Given the description of an element on the screen output the (x, y) to click on. 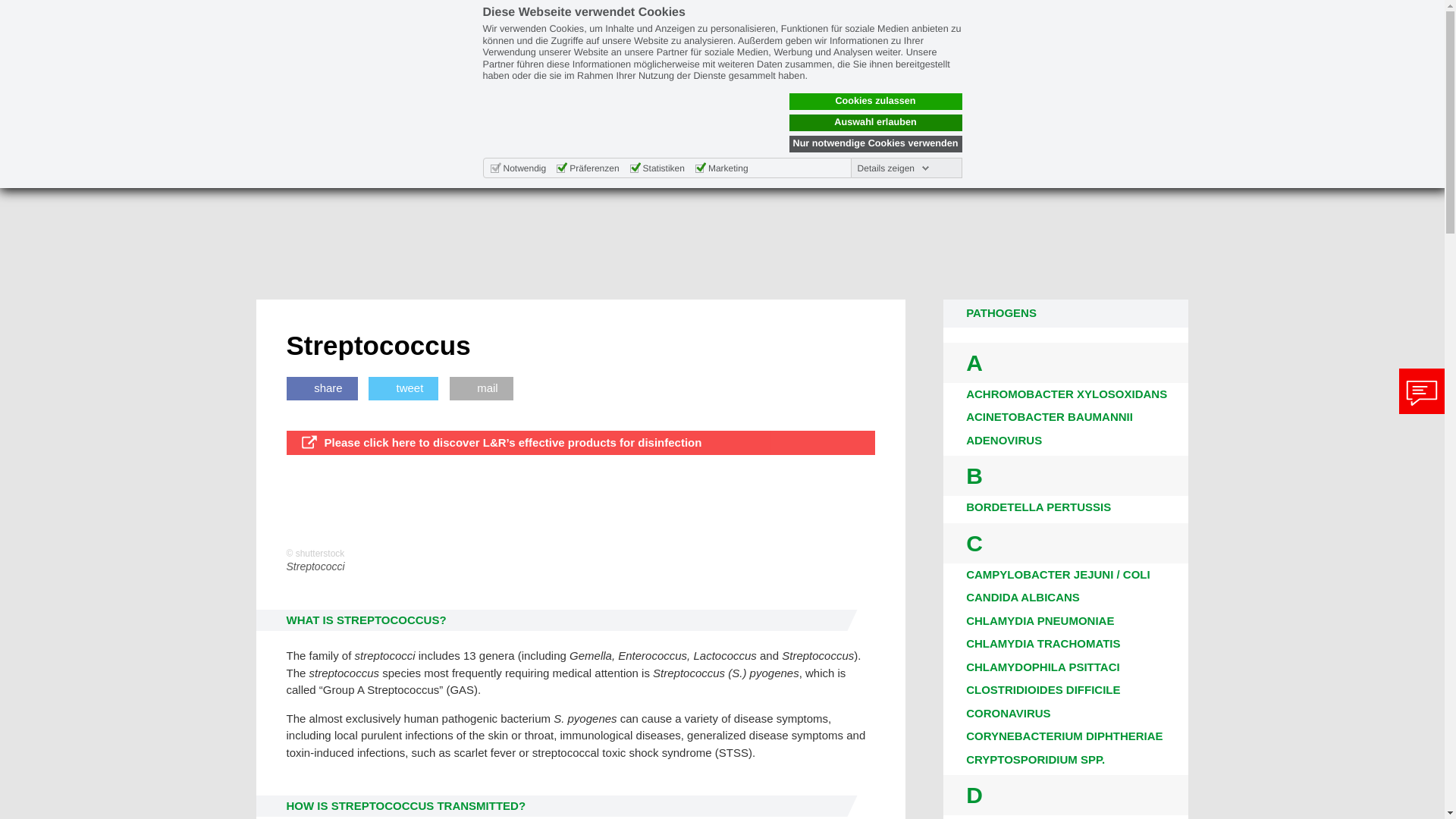
Cookies zulassen (874, 101)
Auswahl erlauben (874, 122)
Details zeigen (893, 168)
Nur notwendige Cookies verwenden (874, 143)
